Given the description of an element on the screen output the (x, y) to click on. 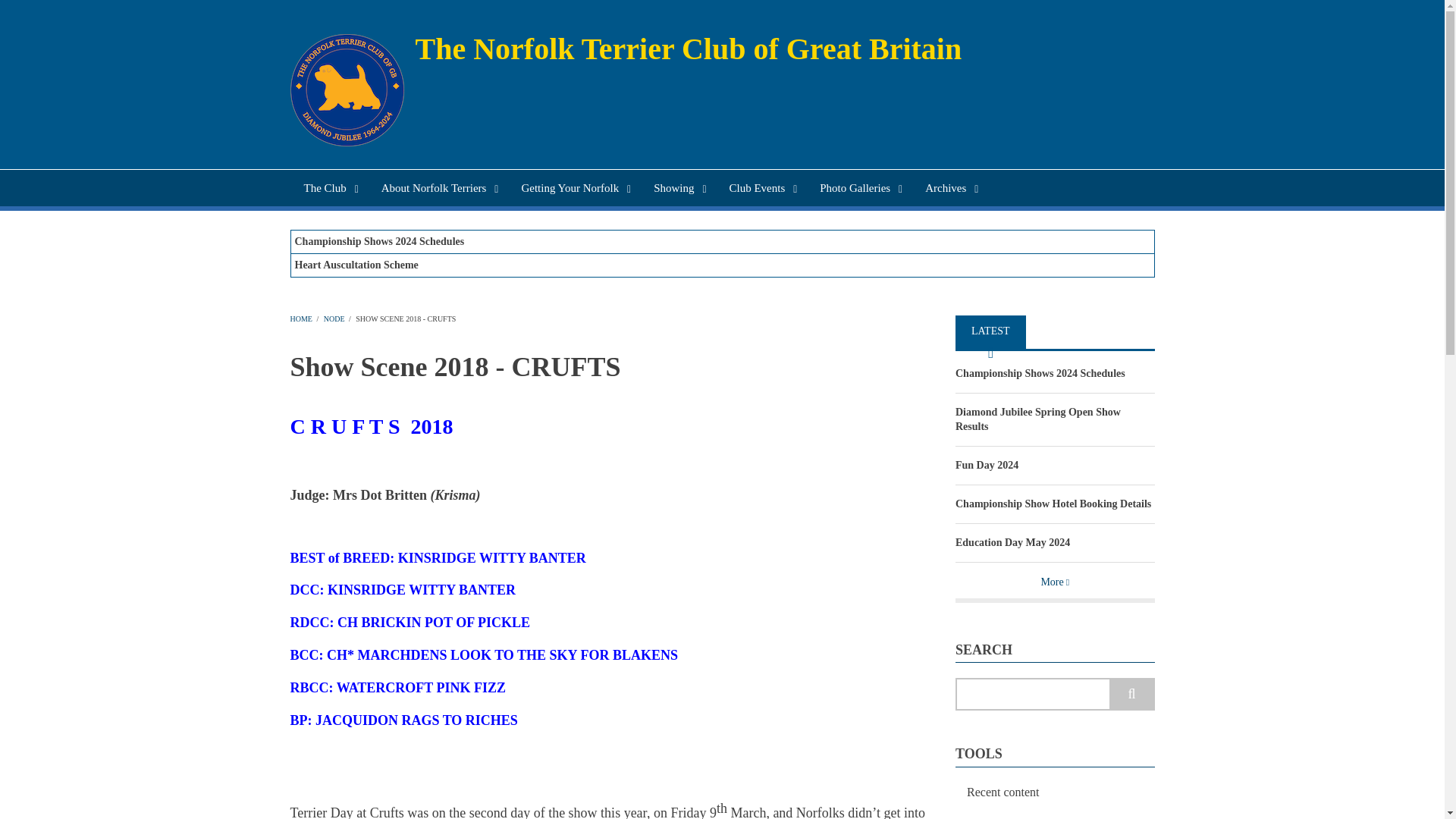
About Norfolk Terriers (438, 187)
Search (1131, 694)
The Norfolk Terrier Club of Great Britain (327, 187)
The Norfolk Terrier Club of Great Britain (688, 48)
The Club (327, 187)
Home (346, 88)
Search (1131, 694)
About Norfolk Terriers (438, 187)
Home (688, 48)
